Given the description of an element on the screen output the (x, y) to click on. 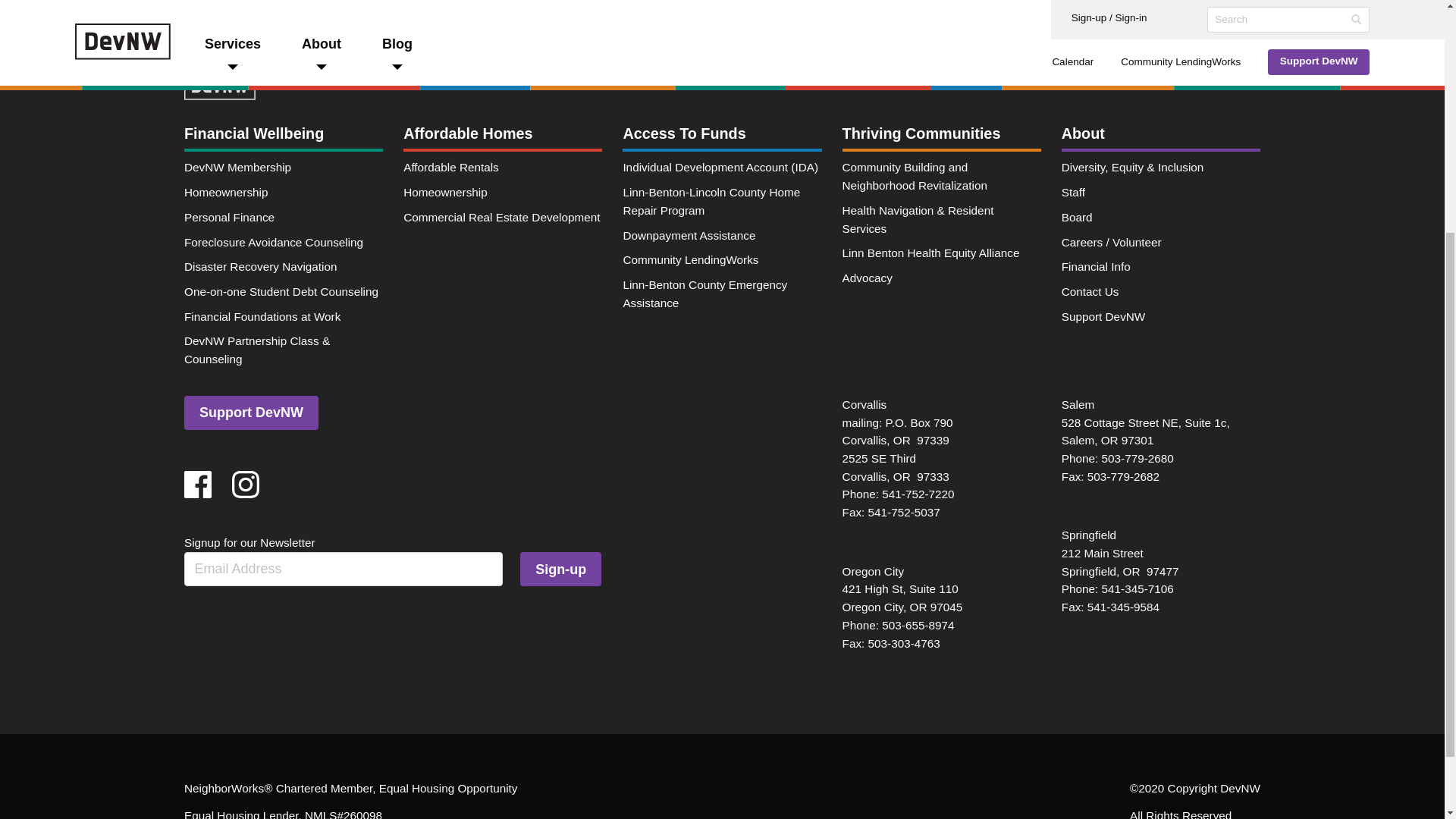
Sign-up (560, 569)
